Given the description of an element on the screen output the (x, y) to click on. 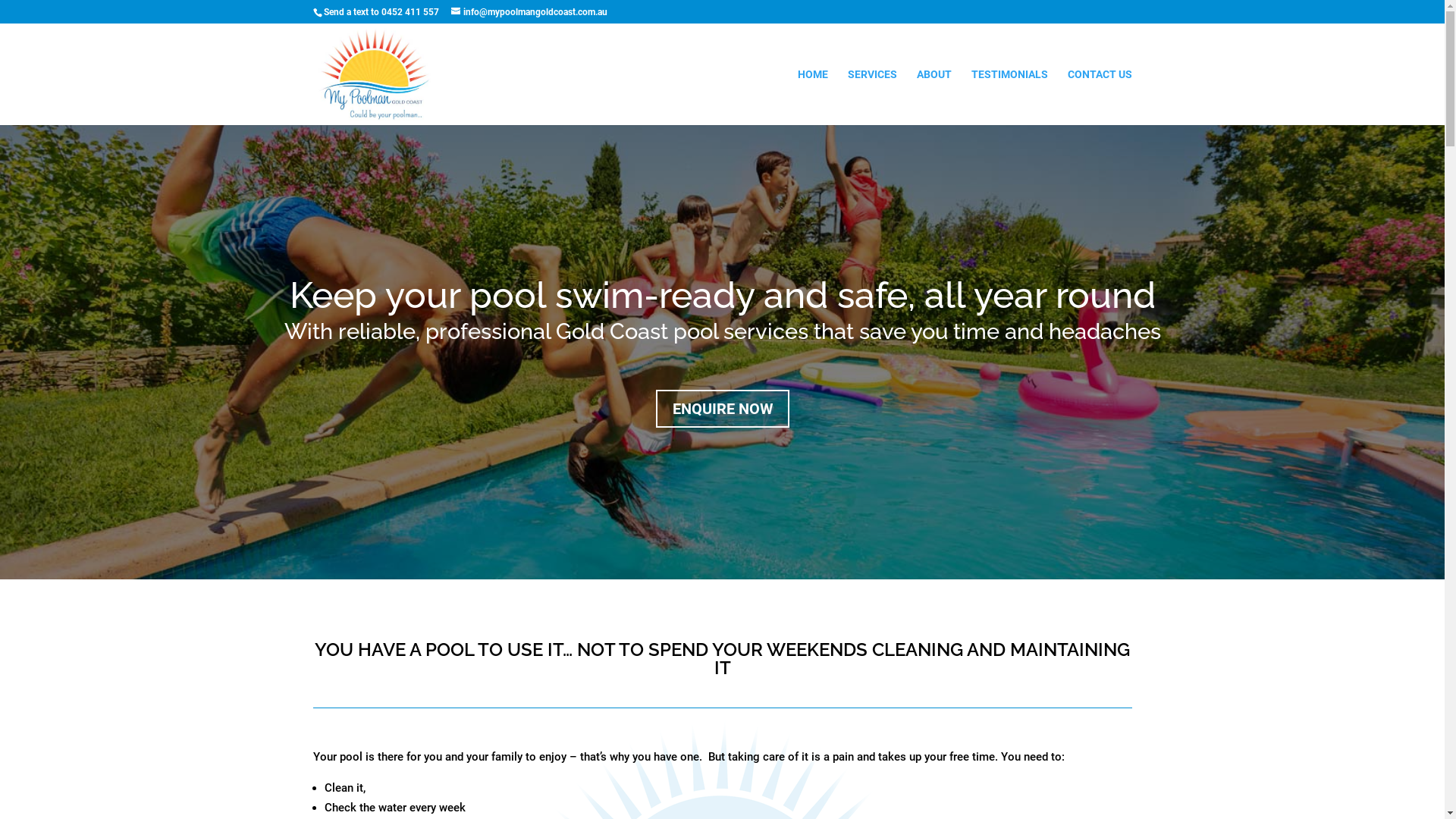
ENQUIRE NOW Element type: text (721, 408)
info@mypoolmangoldcoast.com.au Element type: text (528, 11)
TESTIMONIALS Element type: text (1008, 97)
HOME Element type: text (812, 97)
ABOUT Element type: text (933, 97)
SERVICES Element type: text (872, 97)
CONTACT US Element type: text (1099, 97)
